Given the description of an element on the screen output the (x, y) to click on. 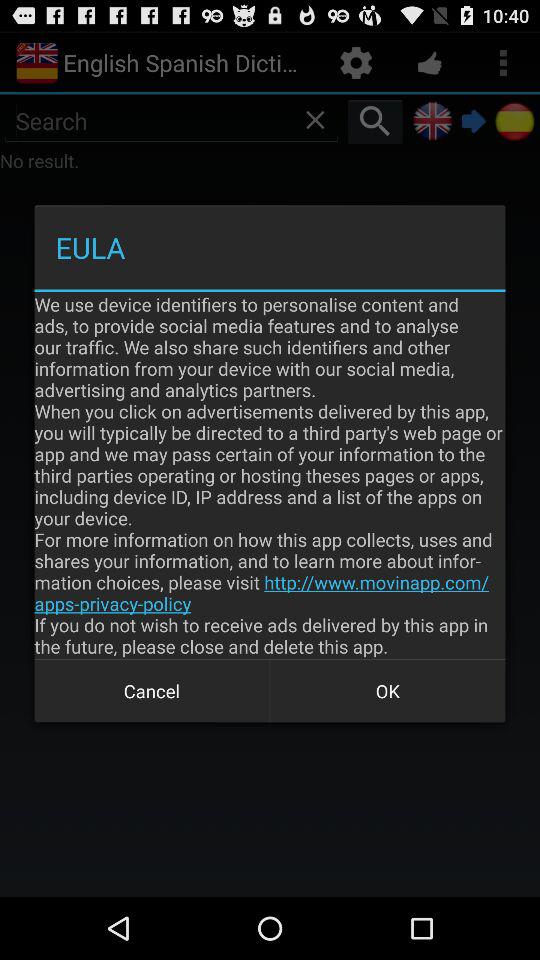
select cancel item (151, 690)
